Given the description of an element on the screen output the (x, y) to click on. 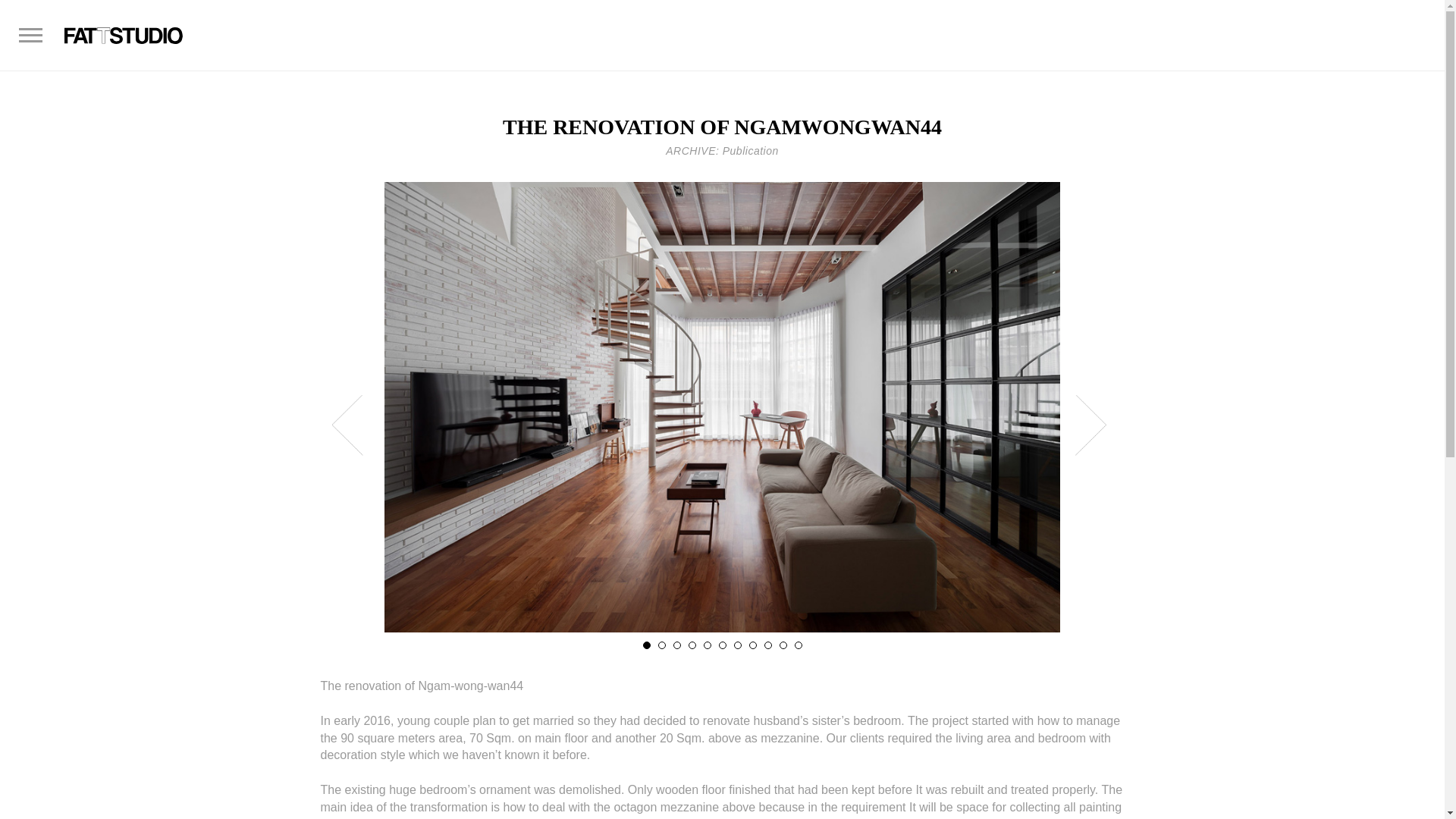
2 (661, 645)
5 (707, 645)
8 (753, 645)
10 (782, 645)
3 (676, 645)
6 (722, 645)
7 (737, 645)
9 (767, 645)
toggle menu (28, 28)
11 (798, 645)
